Given the description of an element on the screen output the (x, y) to click on. 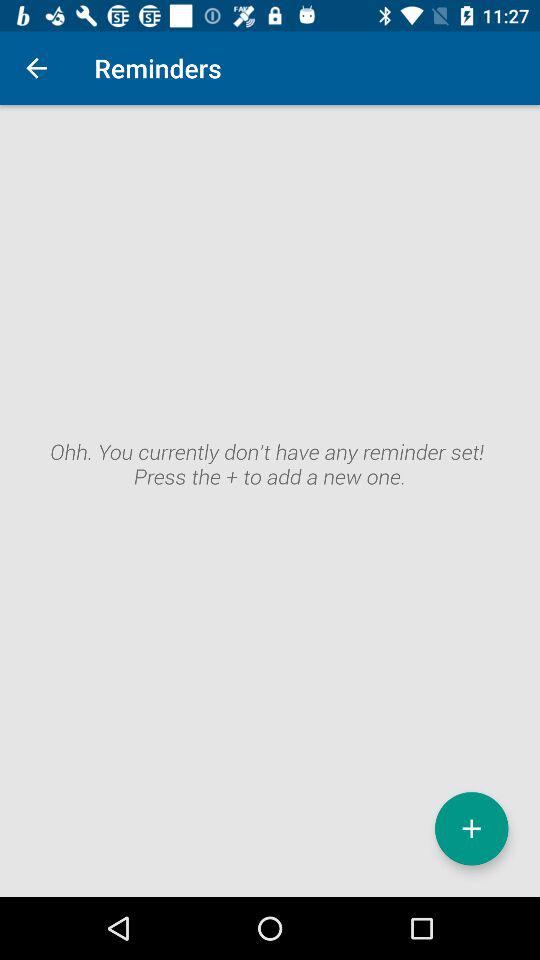
turn on item to the left of the reminders item (36, 68)
